Given the description of an element on the screen output the (x, y) to click on. 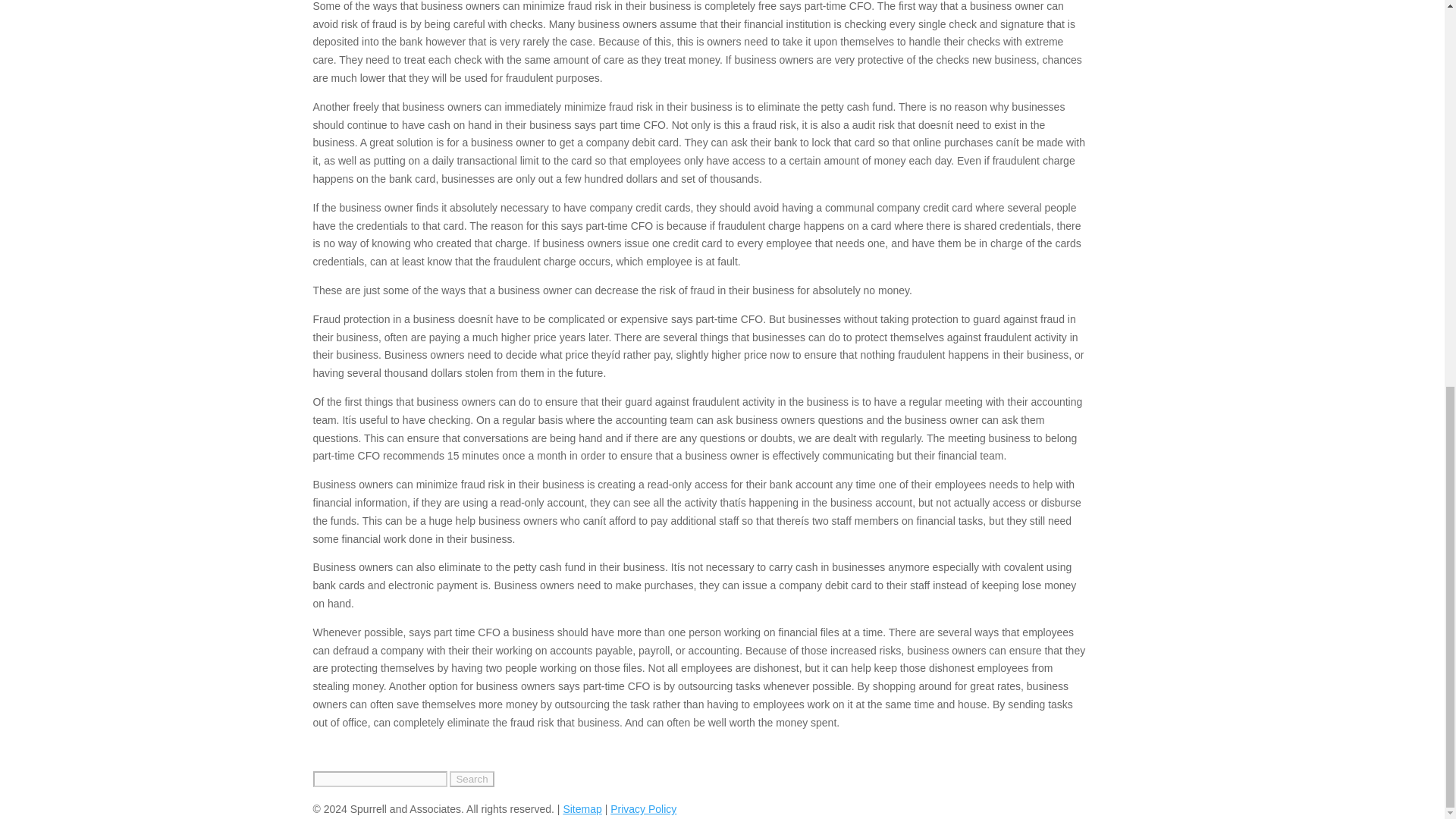
Search (471, 779)
Sitemap (581, 808)
Search (471, 779)
Privacy Policy (643, 808)
